Given the description of an element on the screen output the (x, y) to click on. 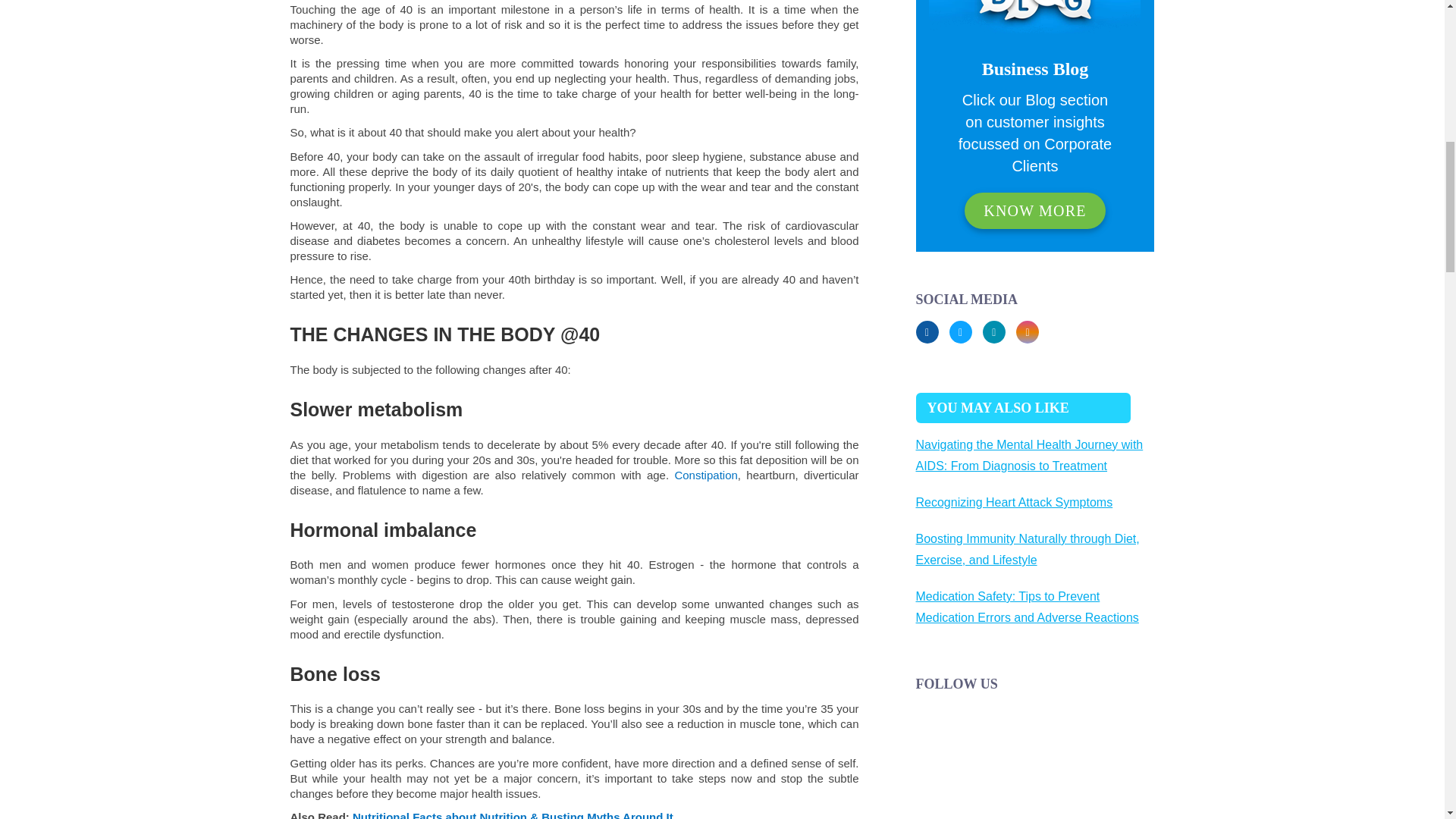
nutritional facts (512, 814)
Constipation (705, 474)
Constipation Treatment (705, 474)
